Given the description of an element on the screen output the (x, y) to click on. 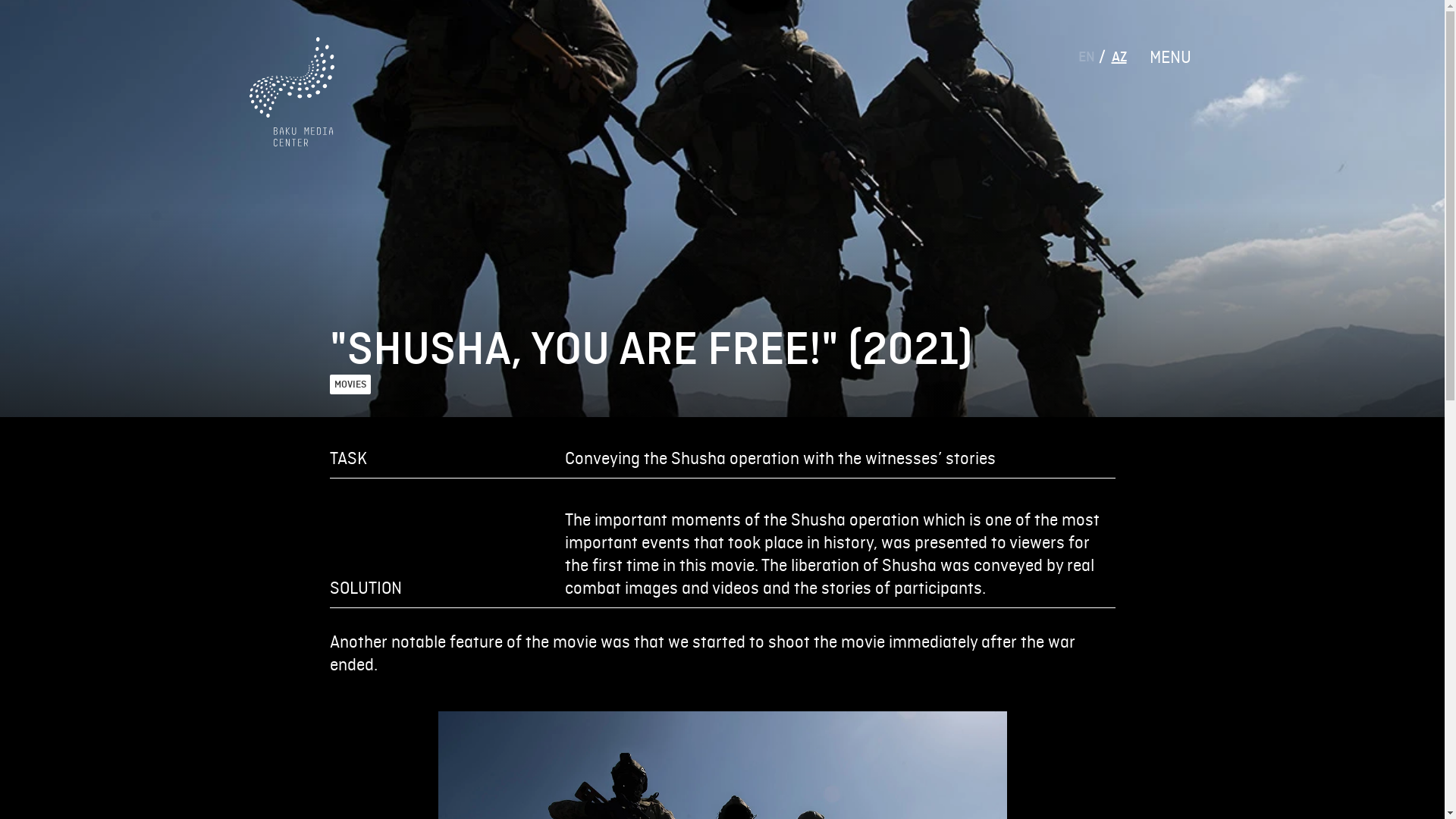
EN Element type: text (1086, 56)
AZ Element type: text (1118, 56)
